Given the description of an element on the screen output the (x, y) to click on. 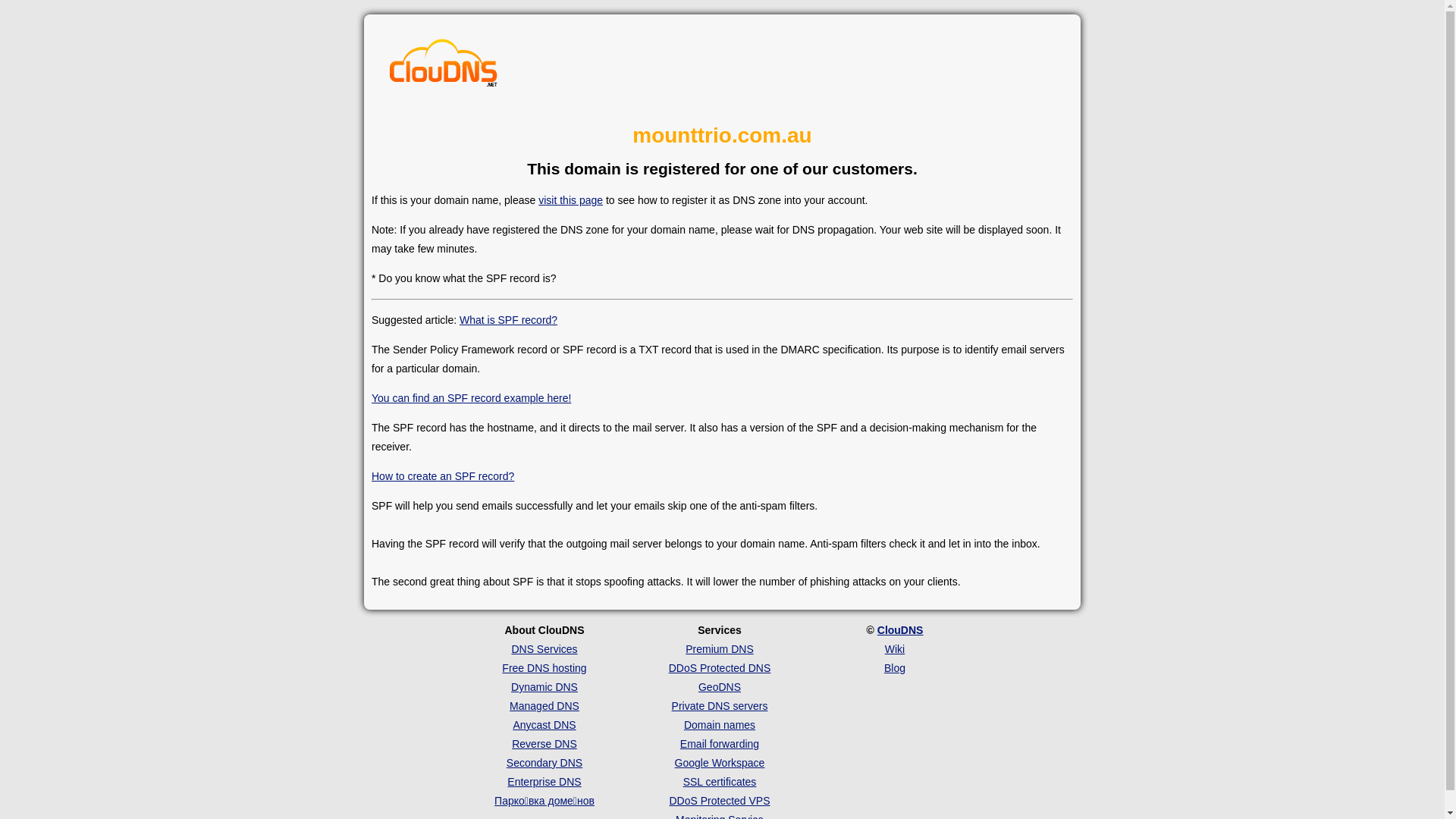
Reverse DNS Element type: text (544, 743)
What is SPF record? Element type: text (508, 319)
Enterprise DNS Element type: text (543, 781)
How to create an SPF record? Element type: text (442, 476)
Wiki Element type: text (894, 649)
DNS Services Element type: text (544, 649)
GeoDNS Element type: text (719, 686)
SSL certificates Element type: text (719, 781)
Blog Element type: text (894, 668)
DDoS Protected DNS Element type: text (719, 668)
visit this page Element type: text (570, 200)
Cloud DNS Element type: hover (443, 66)
Secondary DNS Element type: text (544, 762)
DDoS Protected VPS Element type: text (718, 800)
Managed DNS Element type: text (544, 705)
ClouDNS Element type: text (900, 630)
Anycast DNS Element type: text (543, 724)
Premium DNS Element type: text (719, 649)
Private DNS servers Element type: text (719, 705)
Free DNS hosting Element type: text (544, 668)
Email forwarding Element type: text (719, 743)
Google Workspace Element type: text (719, 762)
You can find an SPF record example here! Element type: text (471, 398)
Dynamic DNS Element type: text (544, 686)
Domain names Element type: text (719, 724)
